Given the description of an element on the screen output the (x, y) to click on. 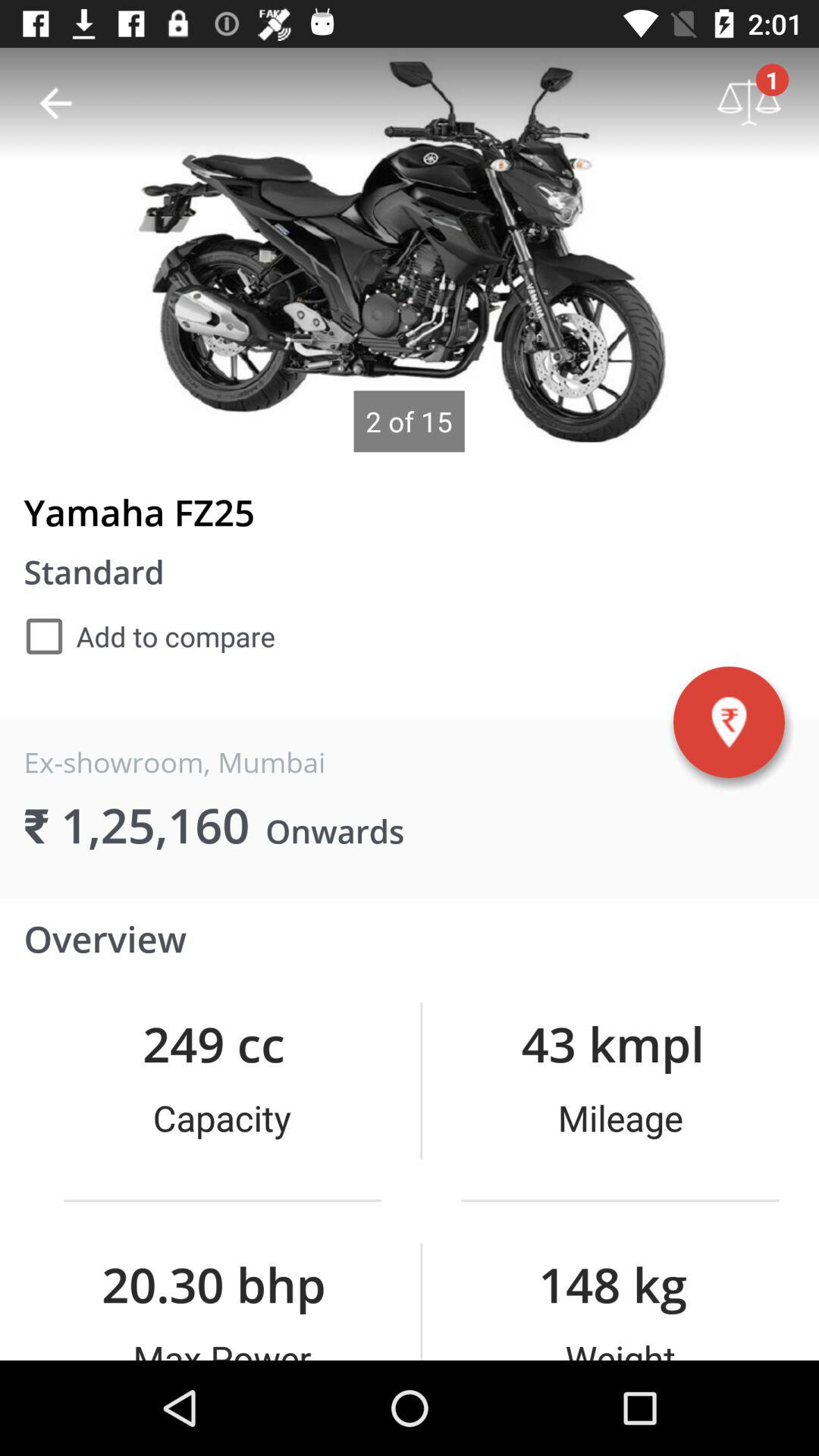
set location (729, 722)
